Given the description of an element on the screen output the (x, y) to click on. 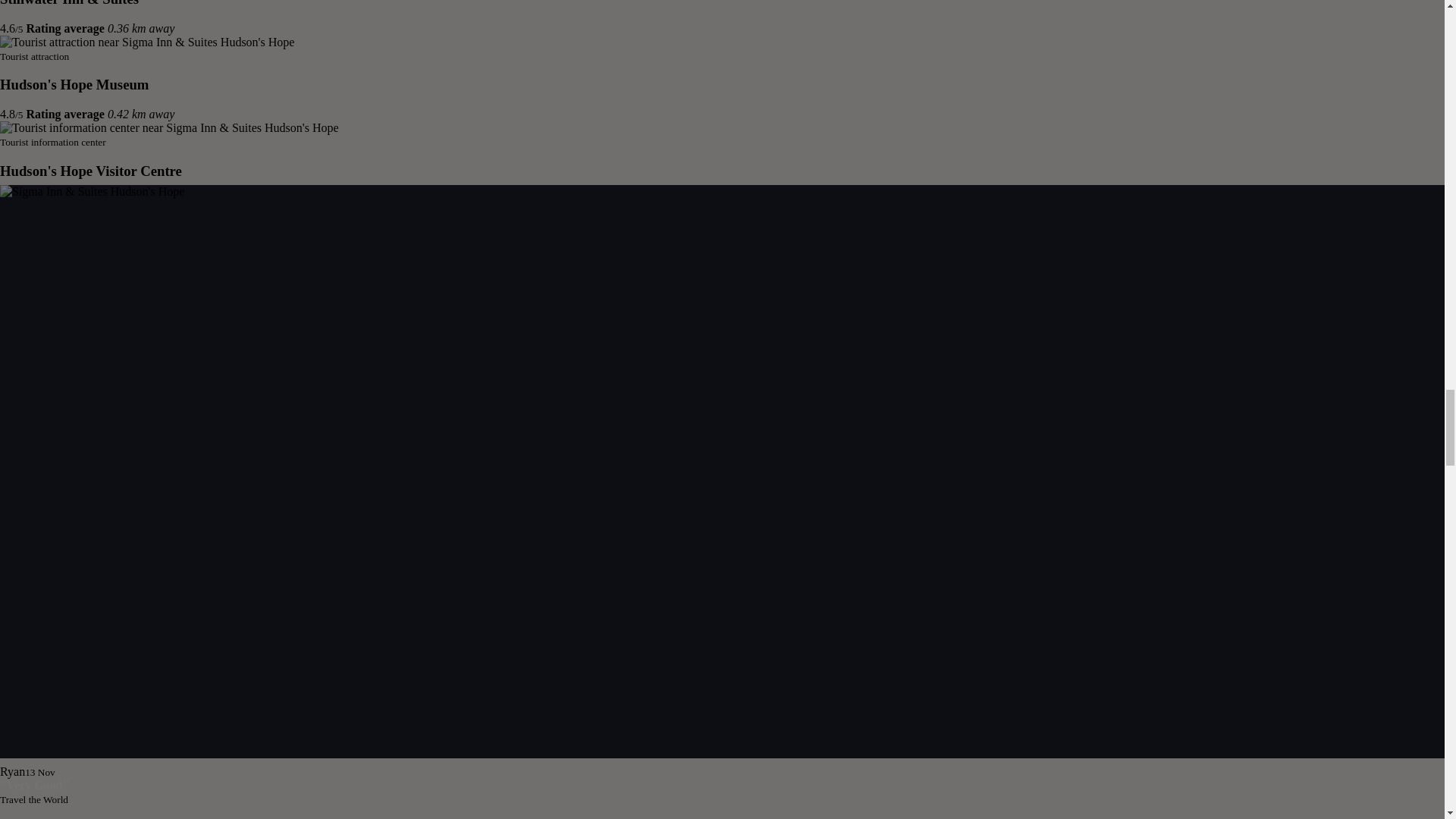
Tourist attraction (147, 42)
Campground (137, 214)
Campground (137, 299)
Tourist information center (169, 127)
